Given the description of an element on the screen output the (x, y) to click on. 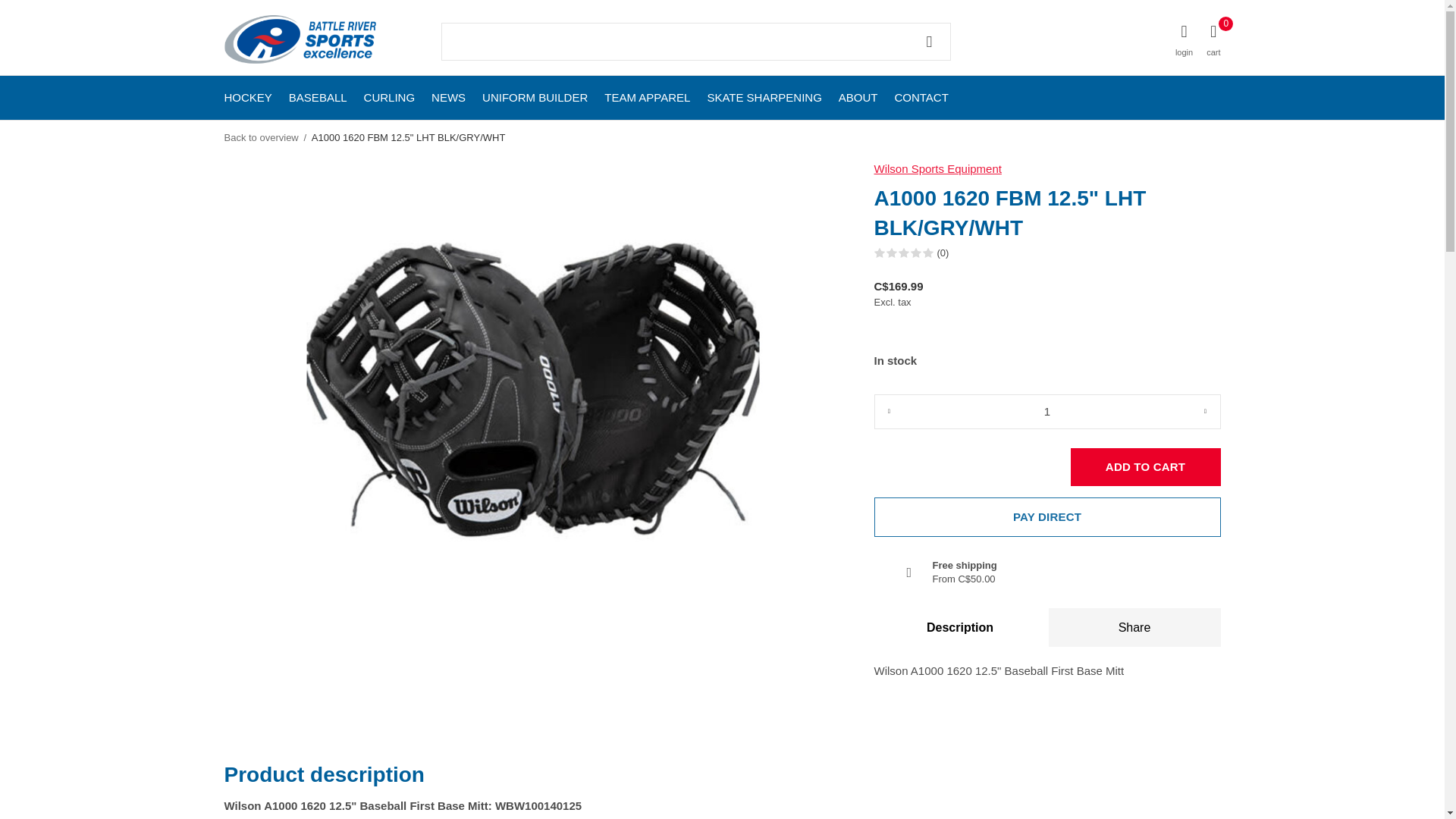
News (447, 96)
HOCKEY (248, 96)
1 (1046, 411)
BASEBALL (317, 96)
NEWS (447, 96)
CURLING (389, 96)
